Given the description of an element on the screen output the (x, y) to click on. 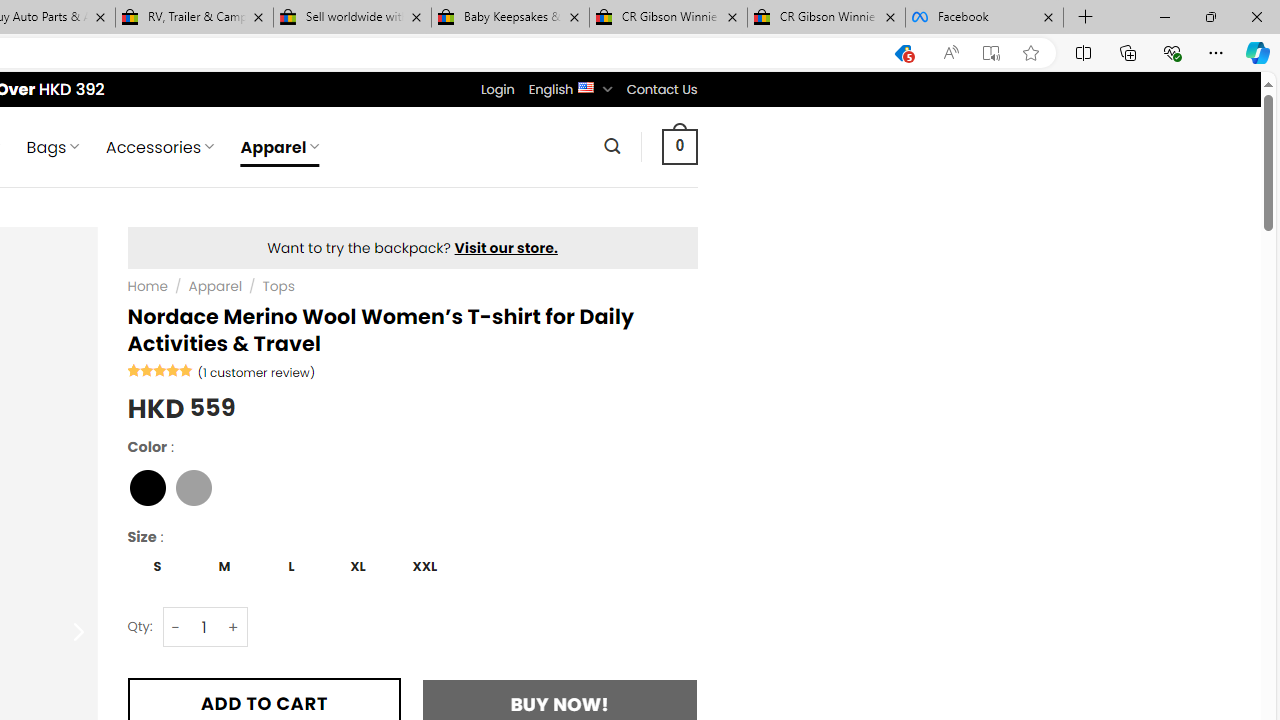
(1 customer review) (256, 372)
Visit our store. (506, 247)
Rated 5.00 out of 5 (160, 369)
